Given the description of an element on the screen output the (x, y) to click on. 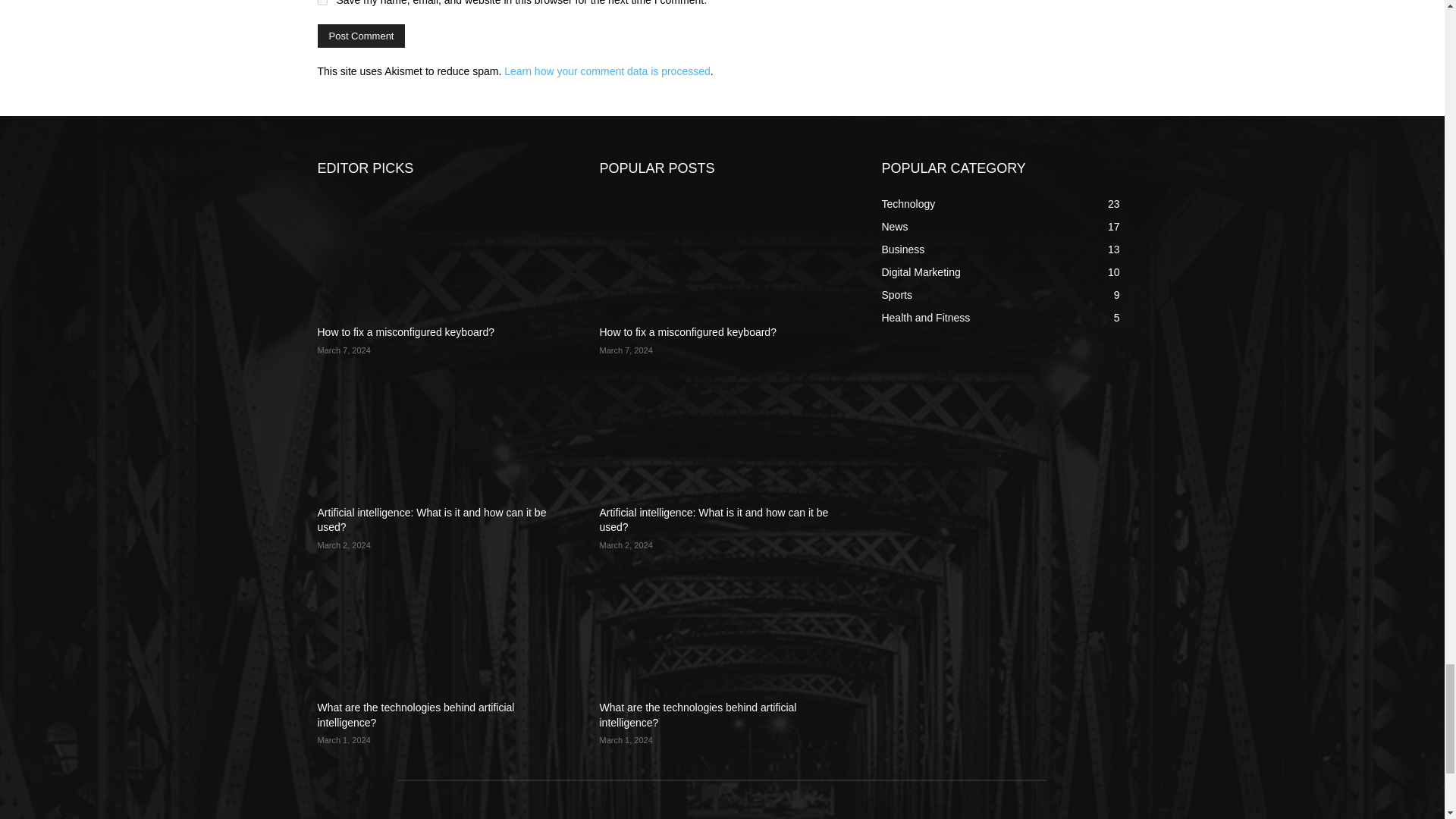
yes (321, 2)
Post Comment (360, 35)
